Given the description of an element on the screen output the (x, y) to click on. 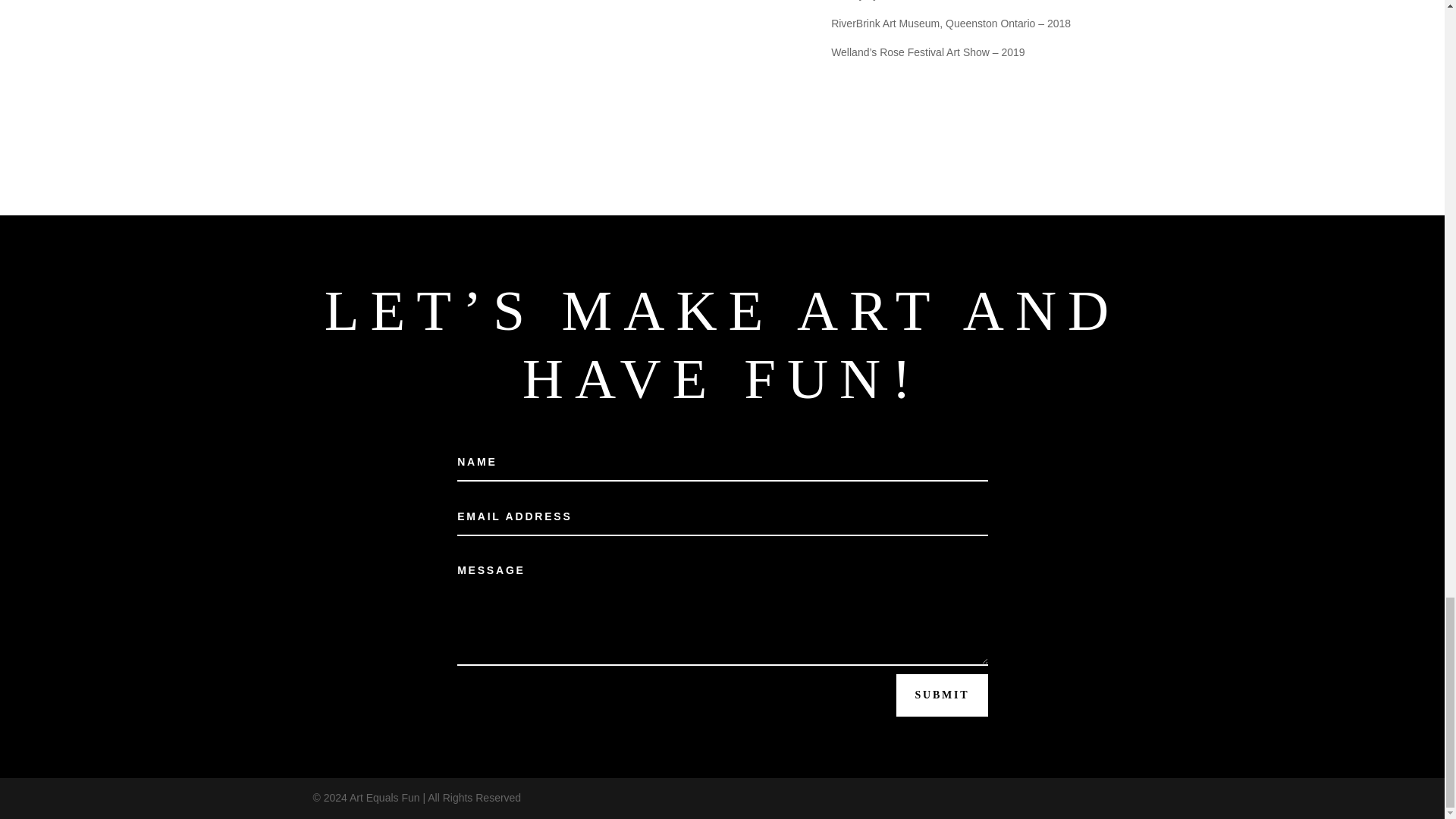
SUBMIT (941, 695)
Website-2015-OSA-waterfall-hi-rez (549, 76)
